Given the description of an element on the screen output the (x, y) to click on. 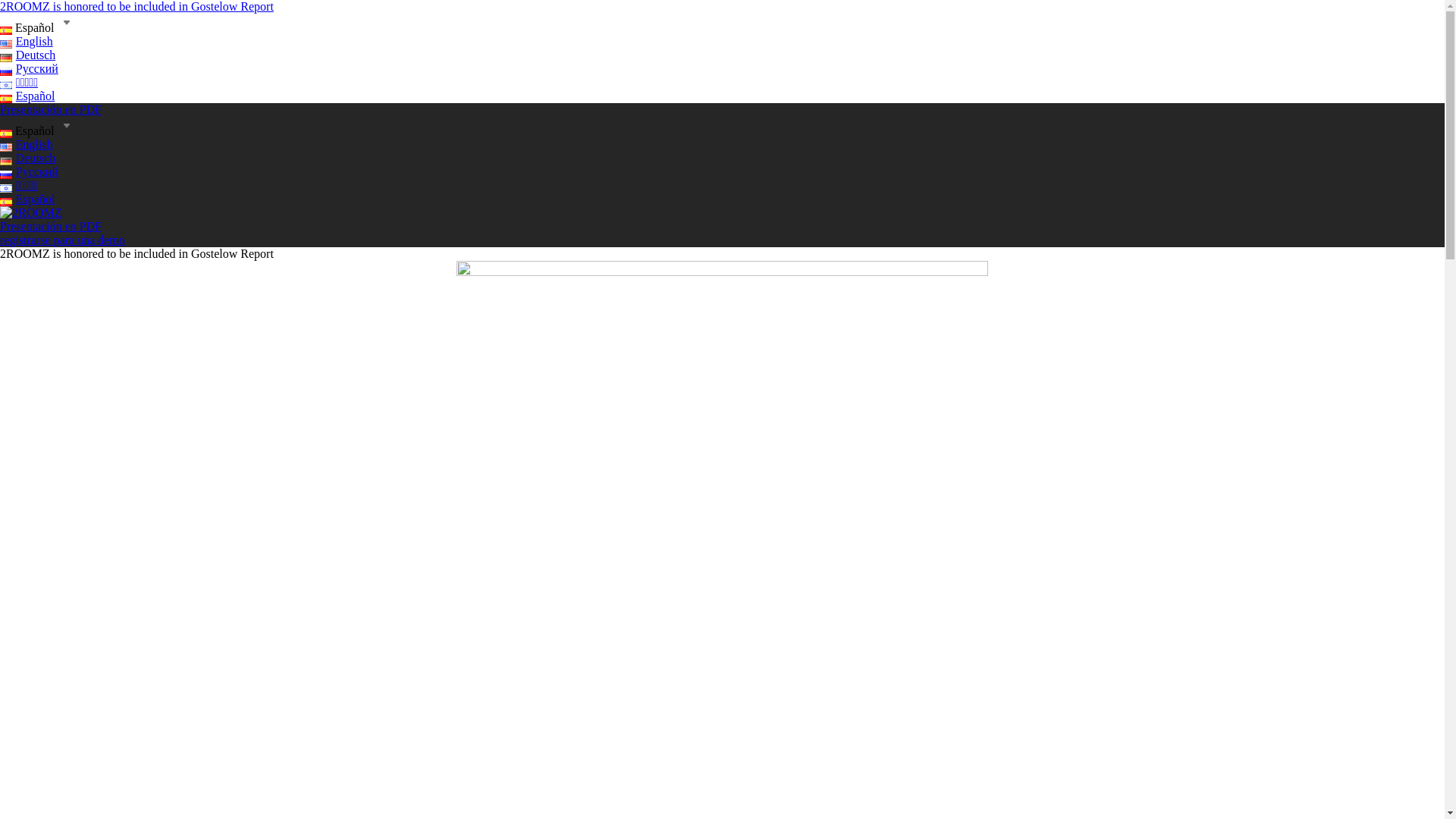
2ROOMZ is honored to be included in Gostelow Report Element type: text (136, 6)
Deutsch Element type: text (27, 54)
English Element type: text (26, 40)
Deutsch Element type: text (27, 157)
English Element type: text (26, 144)
registrarse para una demo Element type: text (62, 239)
